Given the description of an element on the screen output the (x, y) to click on. 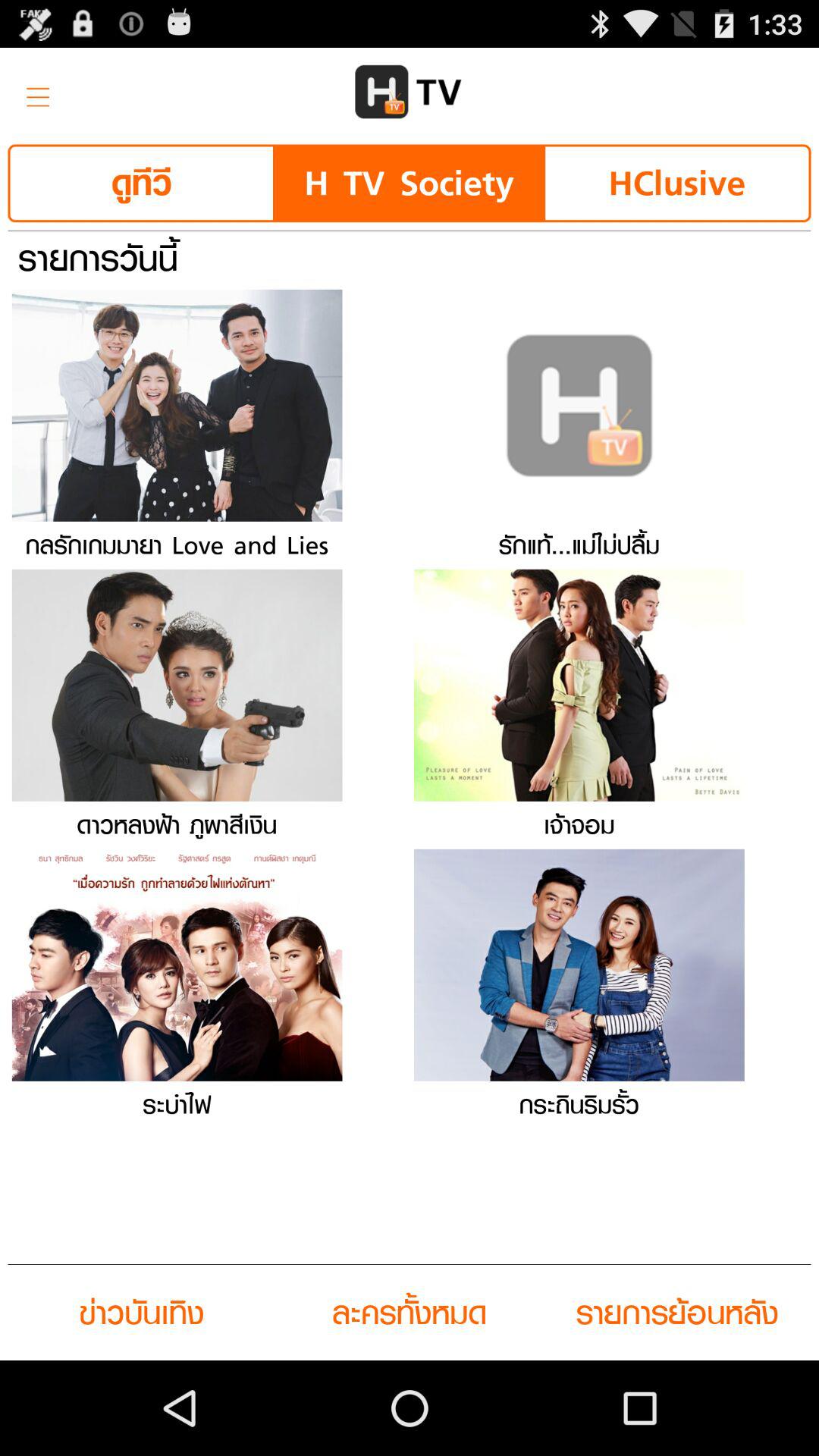
click the item next to the hclusive button (409, 183)
